Given the description of an element on the screen output the (x, y) to click on. 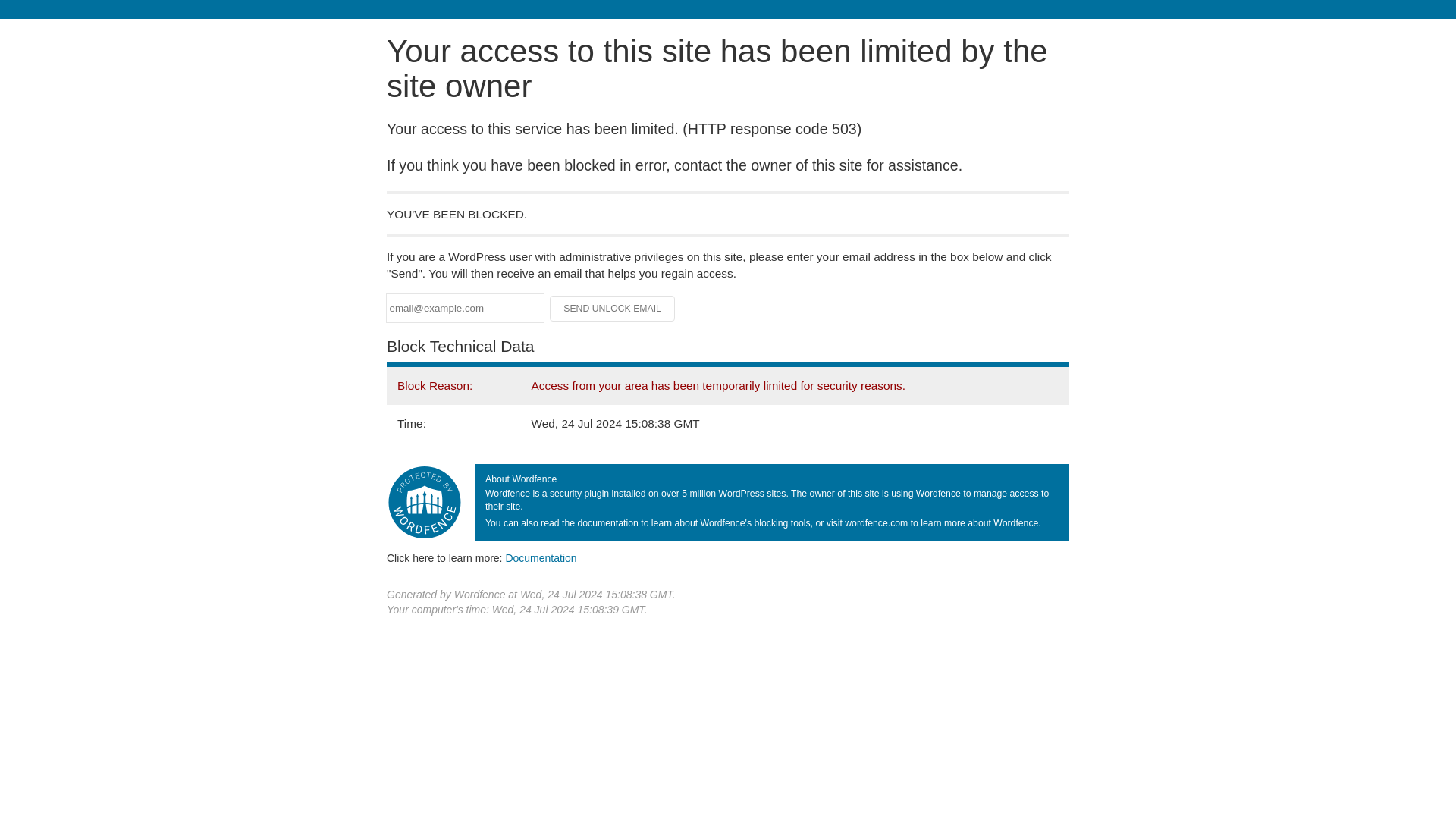
Send Unlock Email (612, 308)
Documentation (540, 558)
Send Unlock Email (612, 308)
